Given the description of an element on the screen output the (x, y) to click on. 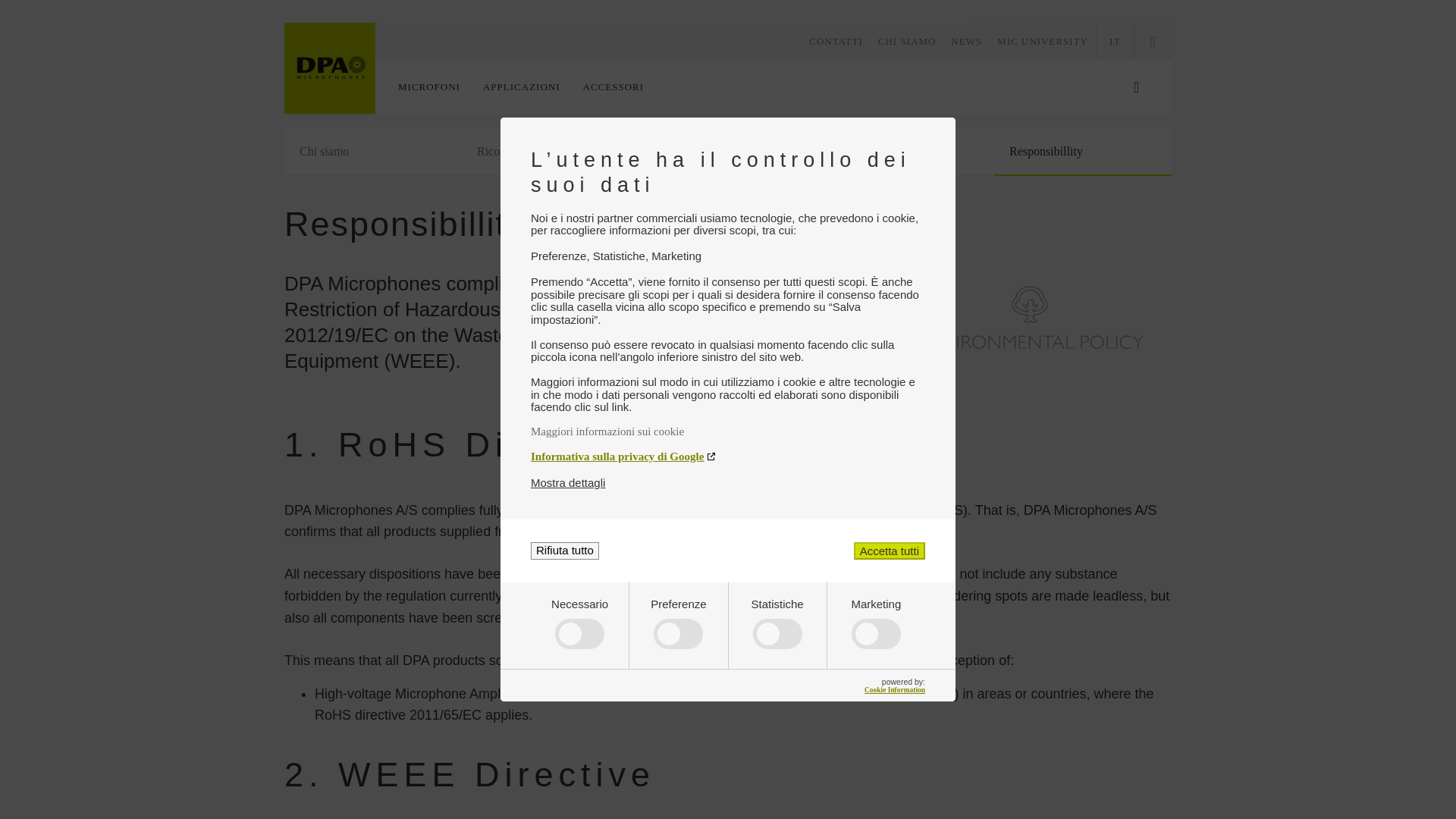
Informativa sulla privacy di Google (727, 456)
Maggiori informazioni sui cookie (727, 431)
Mostra dettagli (568, 481)
